Given the description of an element on the screen output the (x, y) to click on. 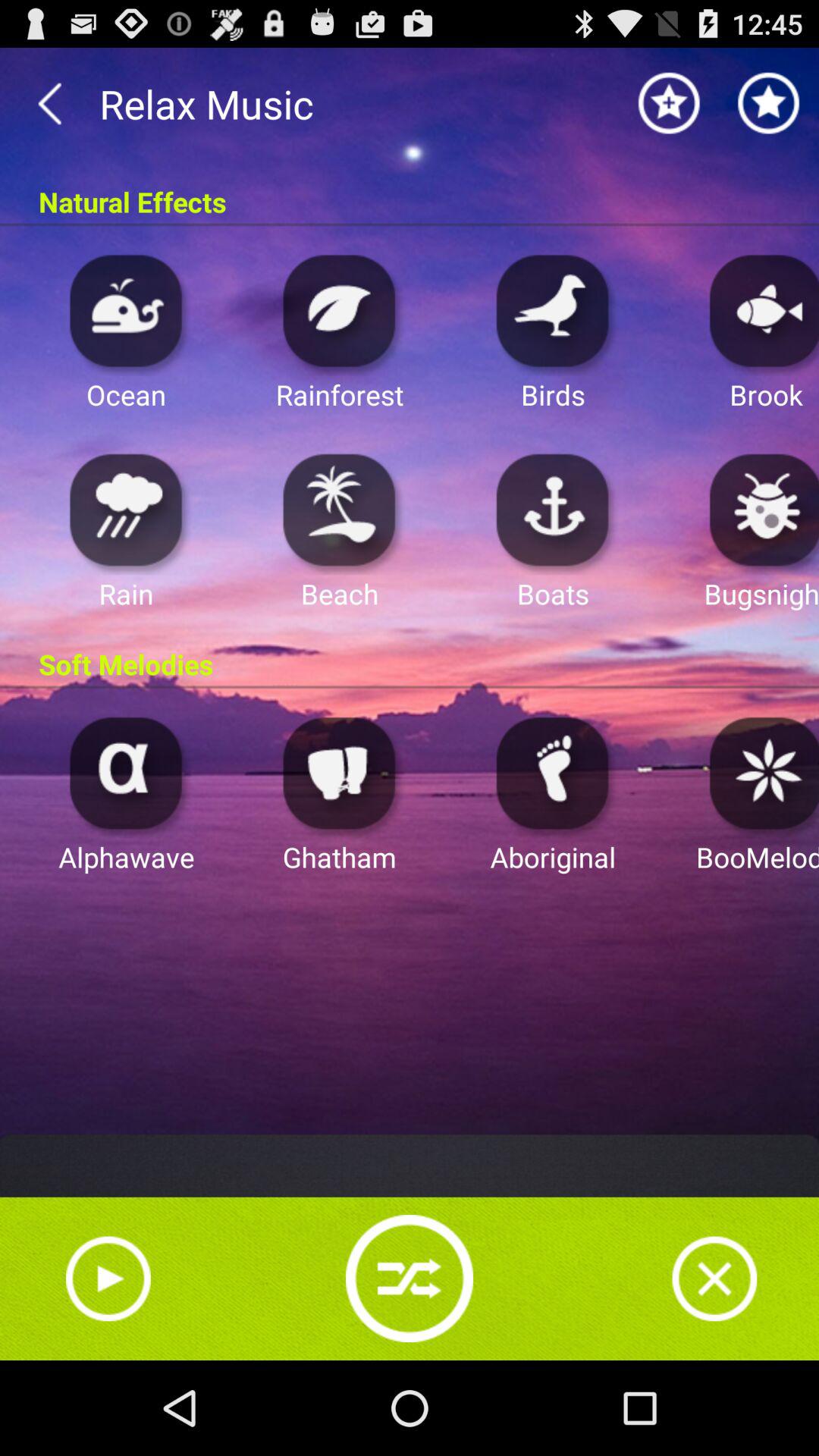
select the effect (126, 309)
